Given the description of an element on the screen output the (x, y) to click on. 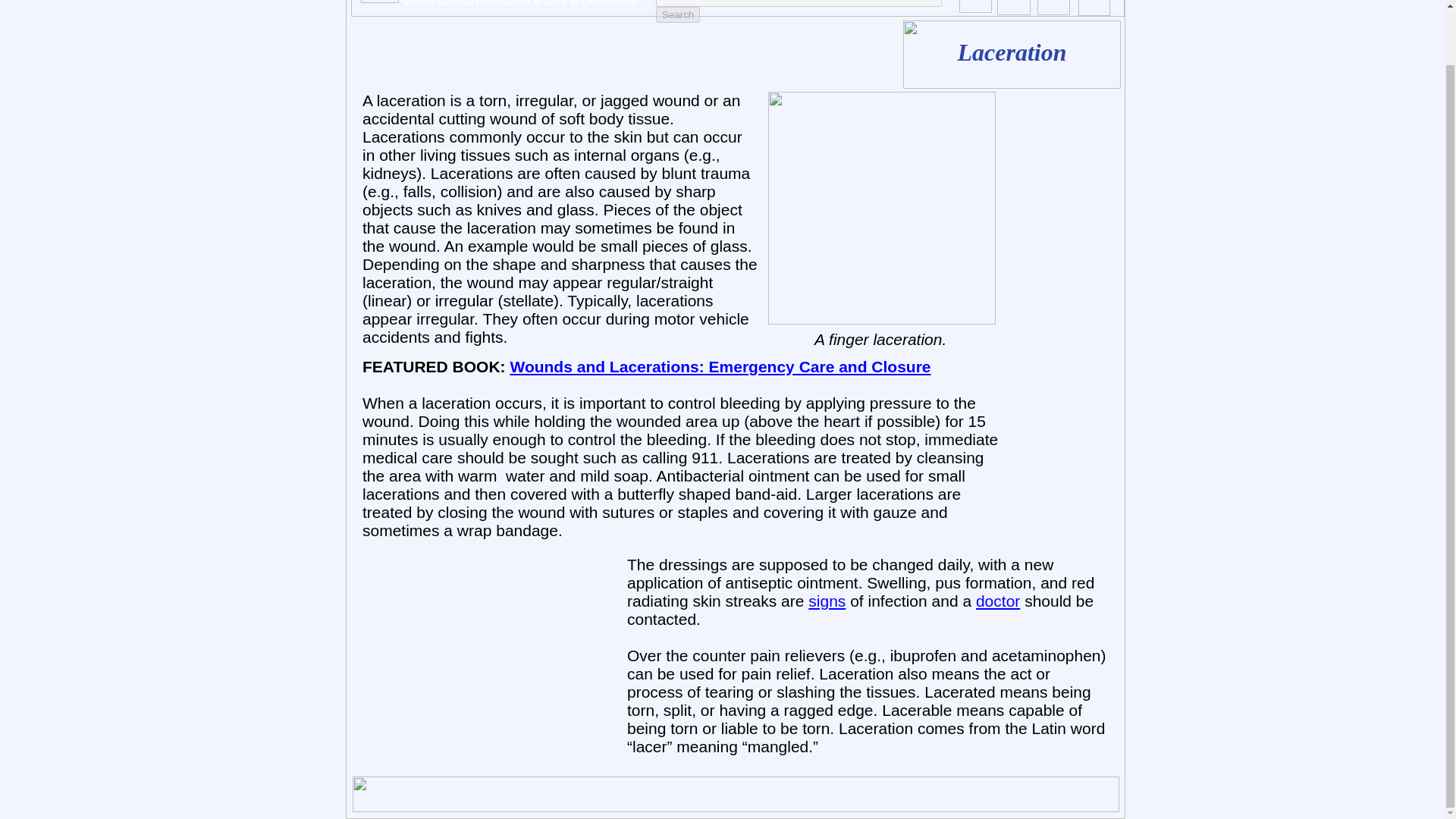
doctor (997, 600)
Wounds and Lacerations: Emergency Care and Closure (719, 366)
signs (826, 600)
Search (678, 14)
Search (678, 14)
